Given the description of an element on the screen output the (x, y) to click on. 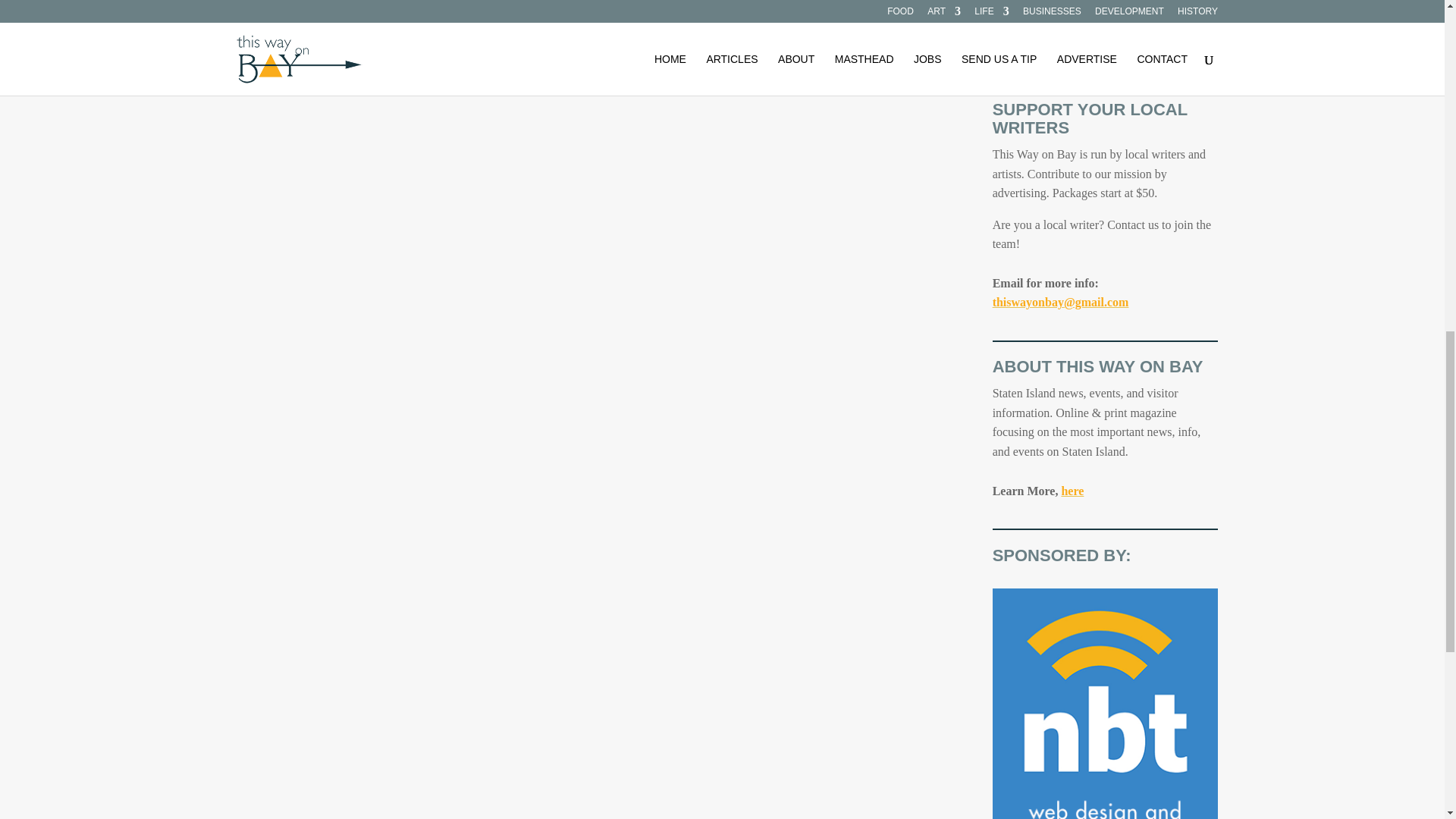
nbt-sidebar (1104, 703)
